Given the description of an element on the screen output the (x, y) to click on. 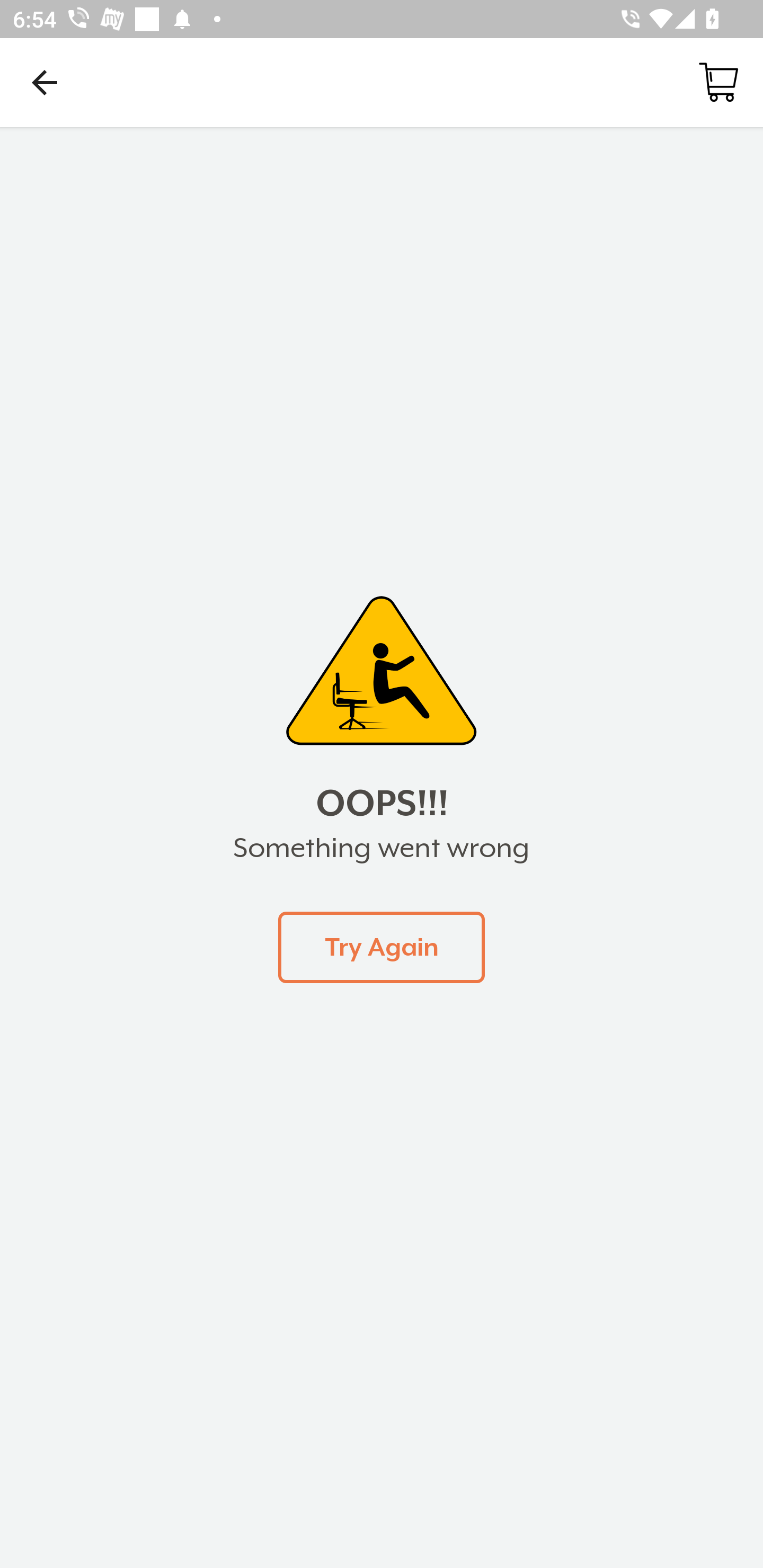
Navigate up (44, 82)
Cart (718, 81)
Try Again (381, 947)
